Given the description of an element on the screen output the (x, y) to click on. 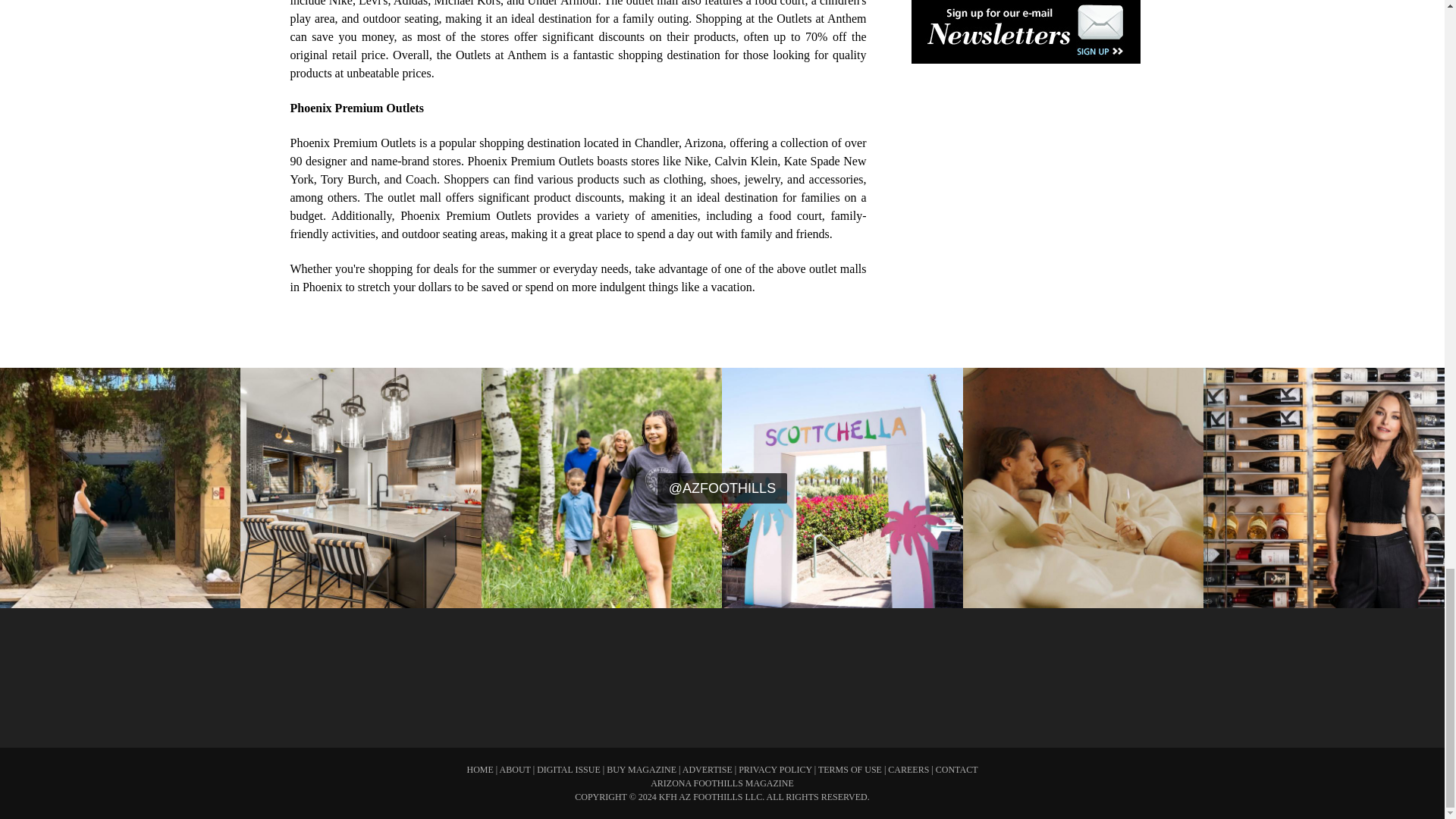
3rd party ad content (425, 668)
3rd party ad content (1024, 208)
3rd party ad content (1017, 668)
3rd party ad content (721, 668)
